Given the description of an element on the screen output the (x, y) to click on. 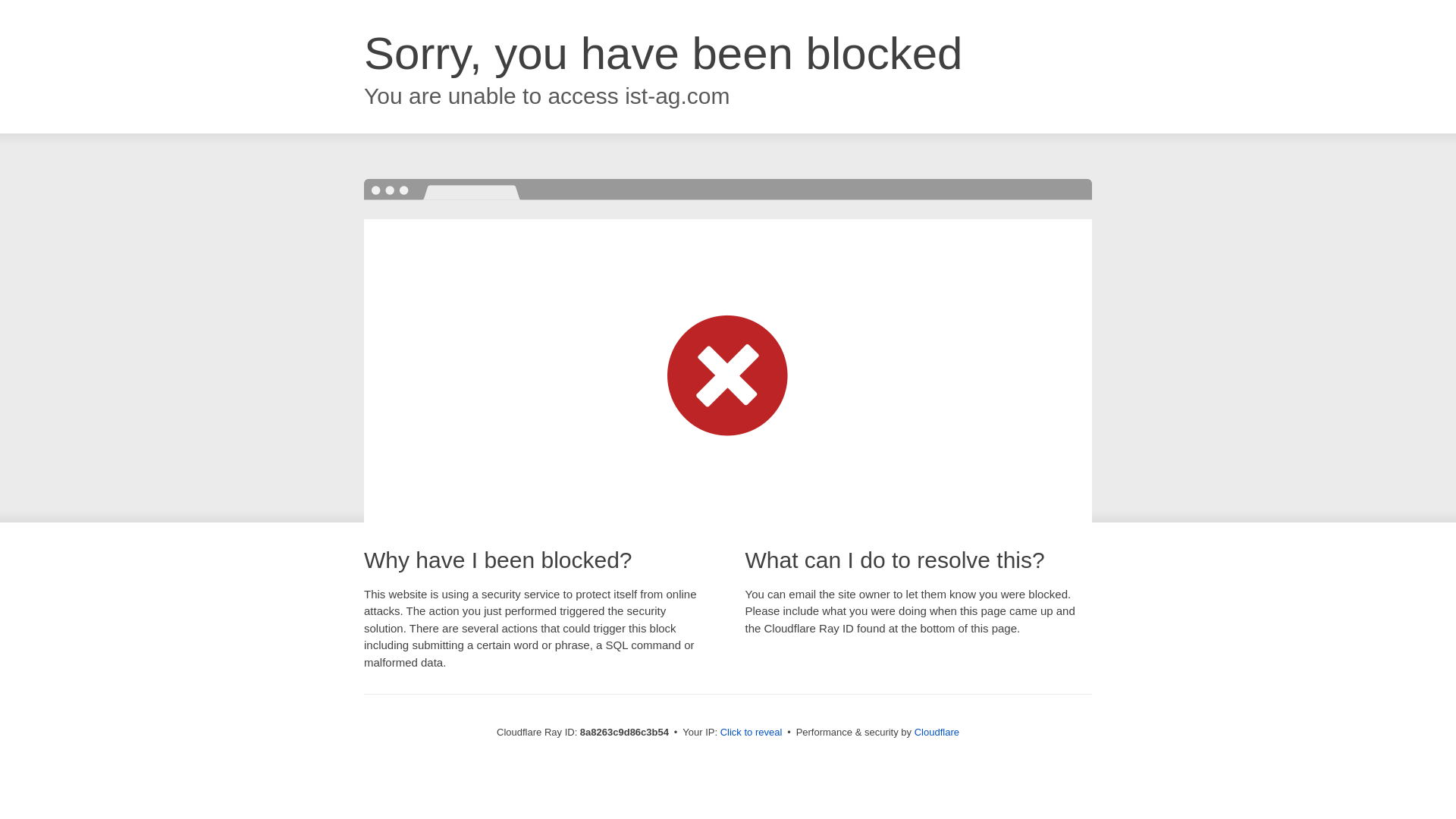
Click to reveal (751, 732)
Cloudflare (936, 731)
